Given the description of an element on the screen output the (x, y) to click on. 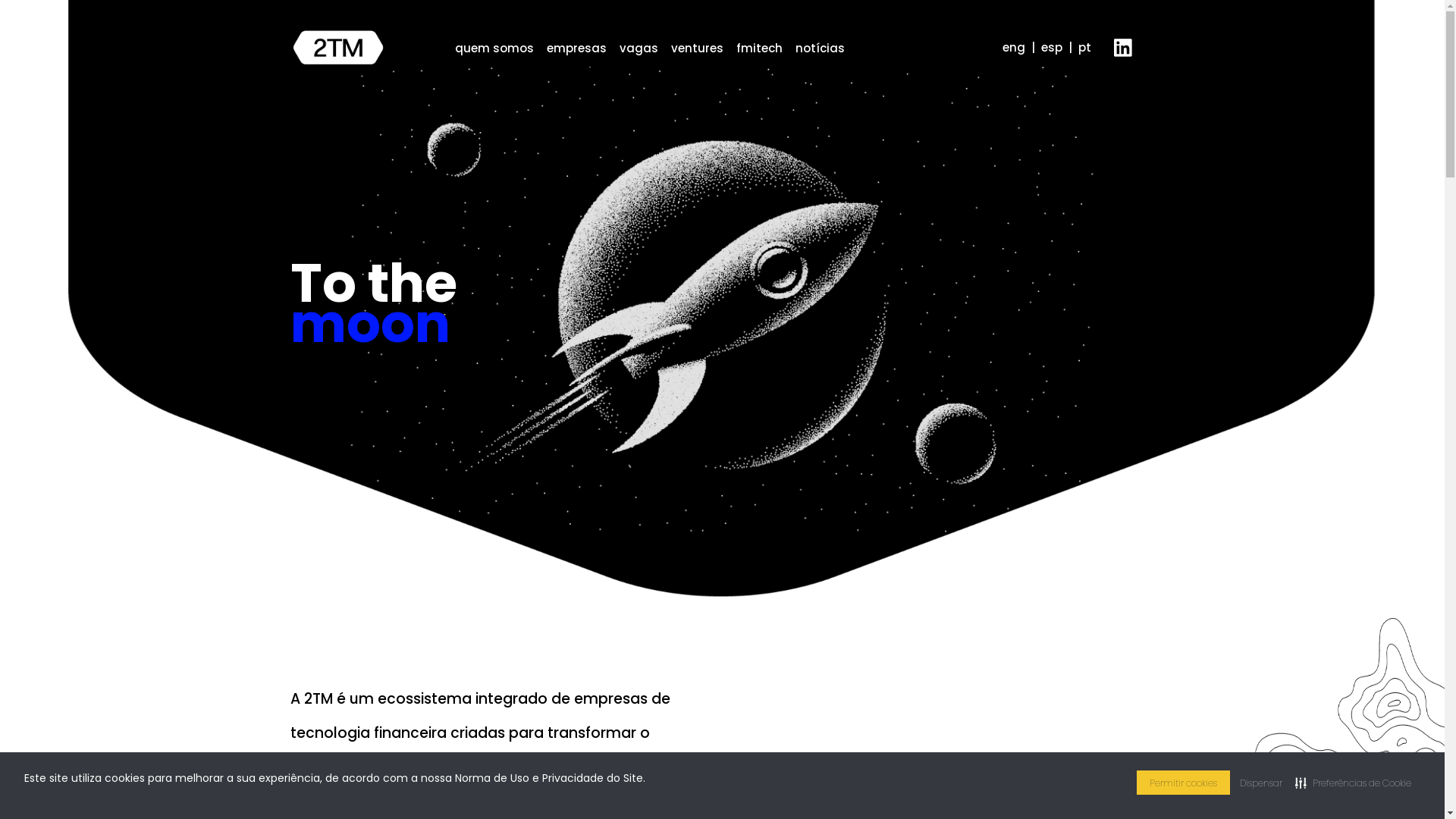
empresas Element type: text (575, 48)
vagas Element type: text (637, 48)
eng Element type: text (1013, 47)
quem somos Element type: text (494, 48)
Dispensar Element type: text (1261, 782)
ventures Element type: text (696, 48)
fmitech Element type: text (758, 48)
Permitir cookies Element type: text (1183, 782)
esp Element type: text (1050, 47)
pt Element type: text (1084, 47)
